Given the description of an element on the screen output the (x, y) to click on. 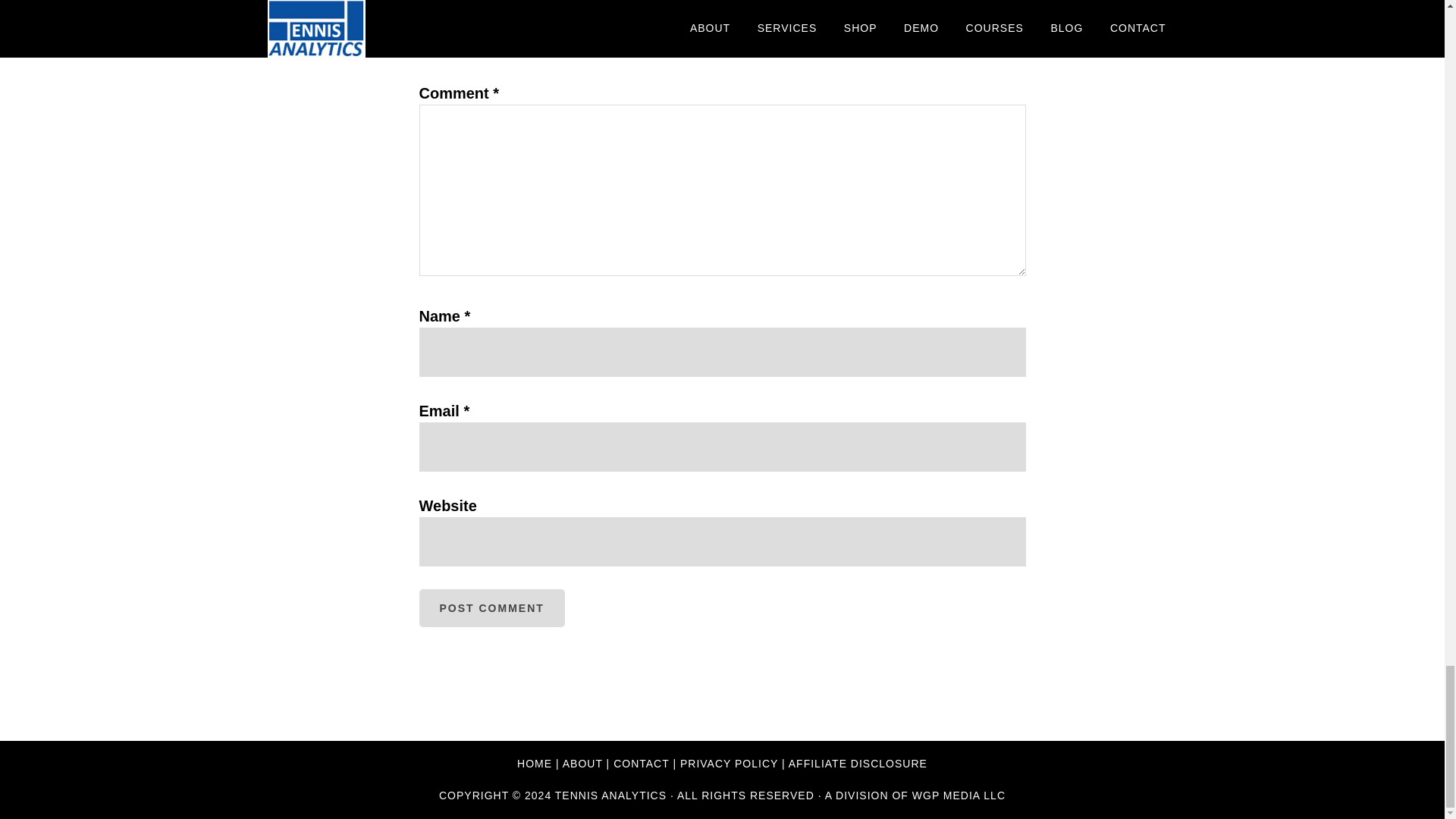
ABOUT (582, 763)
HOME (533, 763)
Post Comment (491, 607)
Post Comment (491, 607)
AFFILIATE DISCLOSURE (858, 763)
CONTACT (640, 763)
PRIVACY POLICY (728, 763)
